Given the description of an element on the screen output the (x, y) to click on. 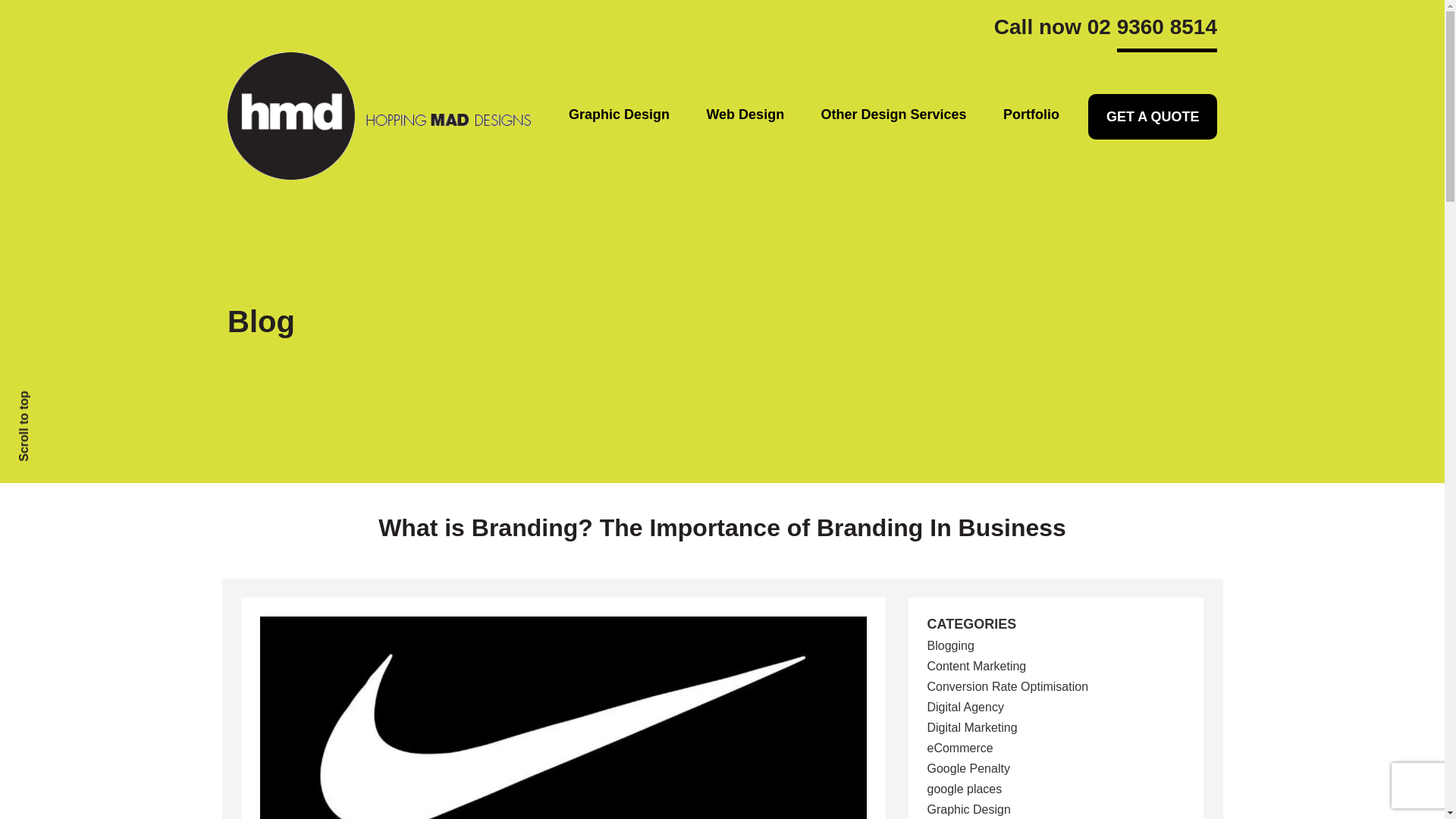
eCommerce (959, 748)
Other Design Services (893, 114)
GET A QUOTE (1151, 116)
Conversion Rate Optimisation (1006, 686)
Hopping Mad Design (379, 115)
Digital Marketing (971, 727)
Call now 02 9360 8514 (1105, 31)
Portfolio (1031, 114)
Digital Agency (964, 707)
Graphic Design (619, 114)
Blogging (950, 645)
Content Marketing (976, 666)
Web Design (745, 114)
Submit (345, 619)
